Given the description of an element on the screen output the (x, y) to click on. 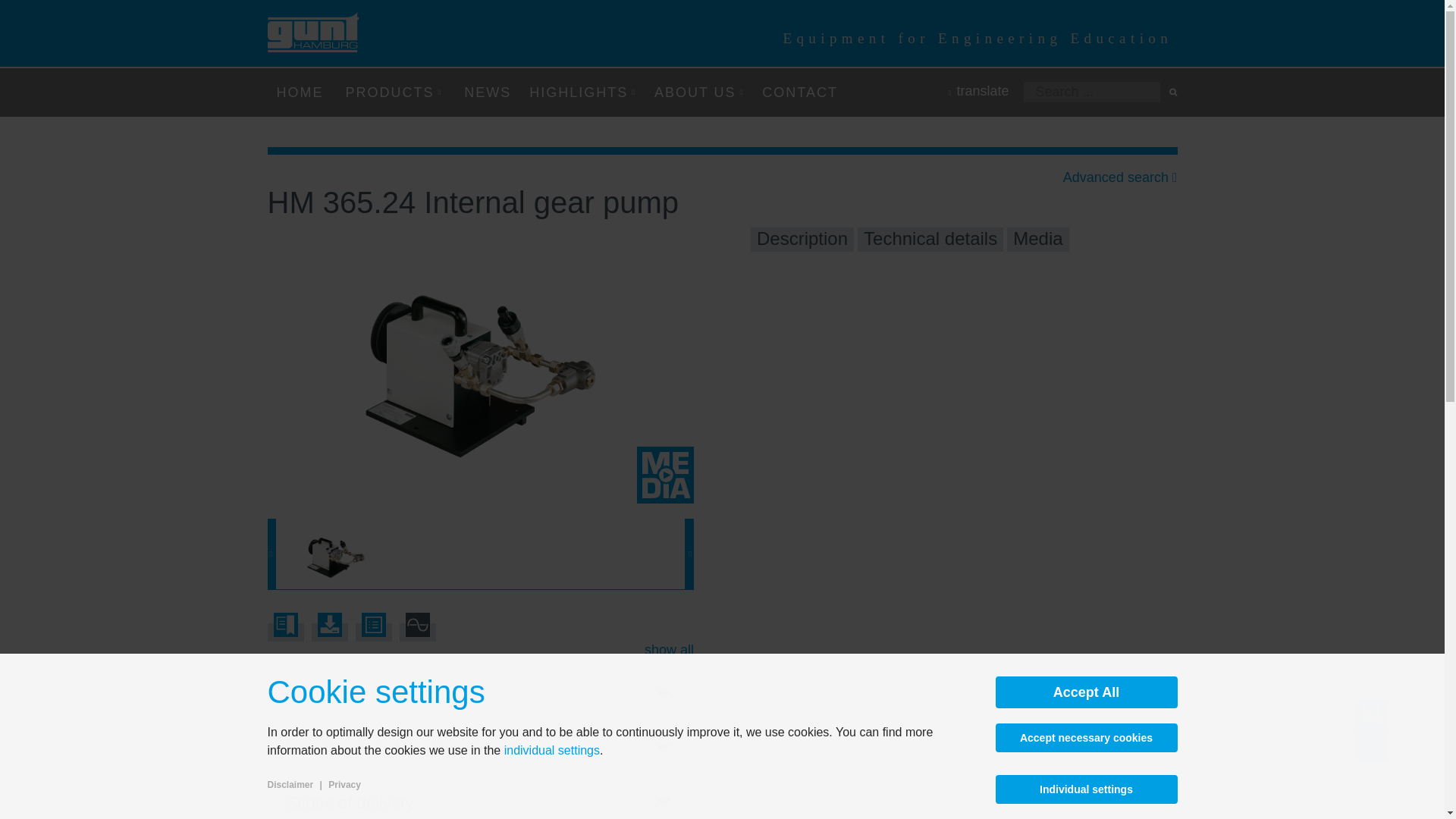
Digital data acquisition possible, e.g. via PC (416, 632)
Download specifications (373, 632)
Add to basket for price request (284, 632)
